Given the description of an element on the screen output the (x, y) to click on. 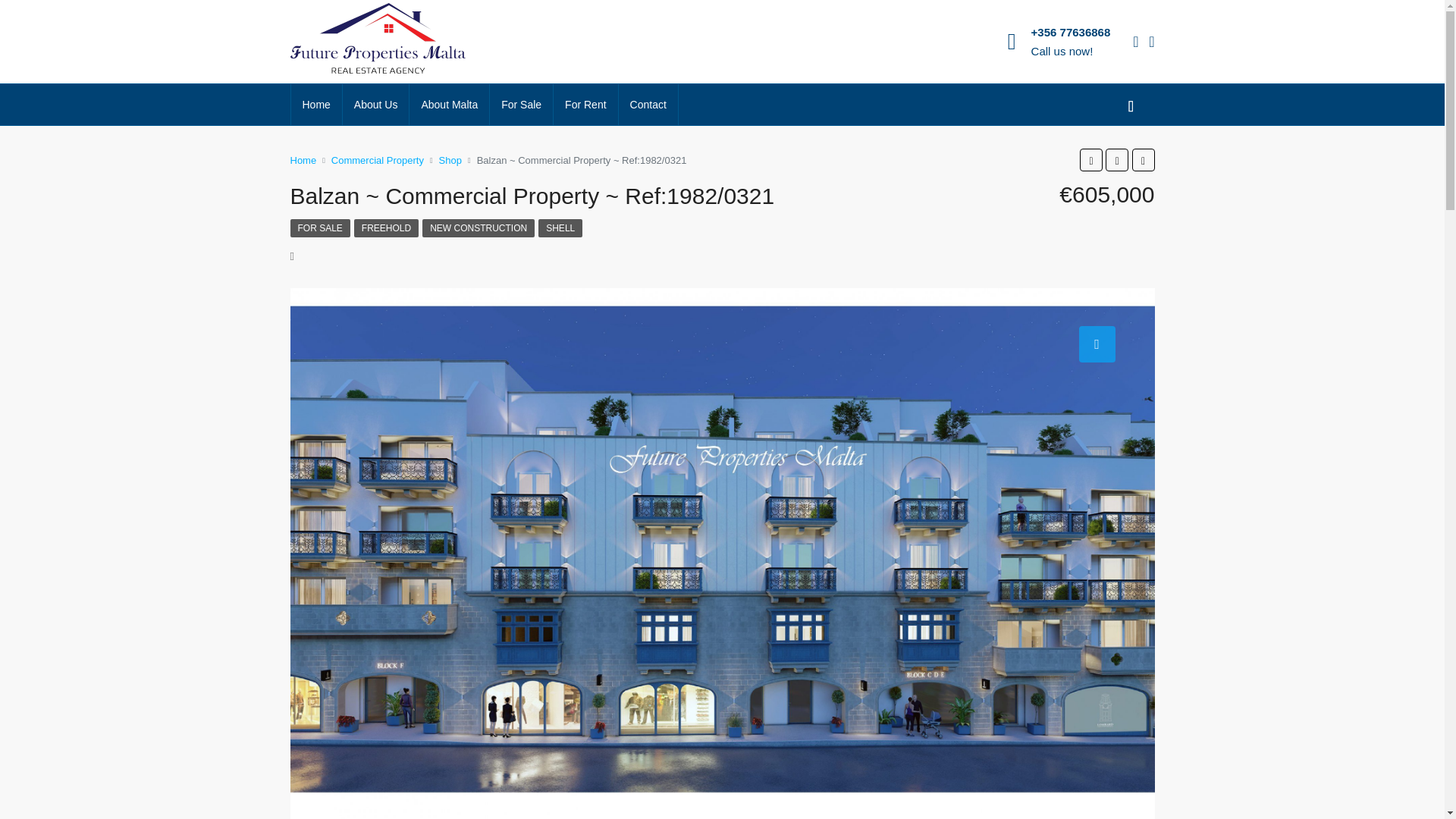
Commercial Property (377, 158)
NEW CONSTRUCTION (478, 228)
Contact (648, 104)
Home (316, 104)
SHELL (560, 228)
FOR SALE (319, 228)
Home (302, 158)
FREEHOLD (386, 228)
For Sale (521, 104)
For Rent (585, 104)
